Given the description of an element on the screen output the (x, y) to click on. 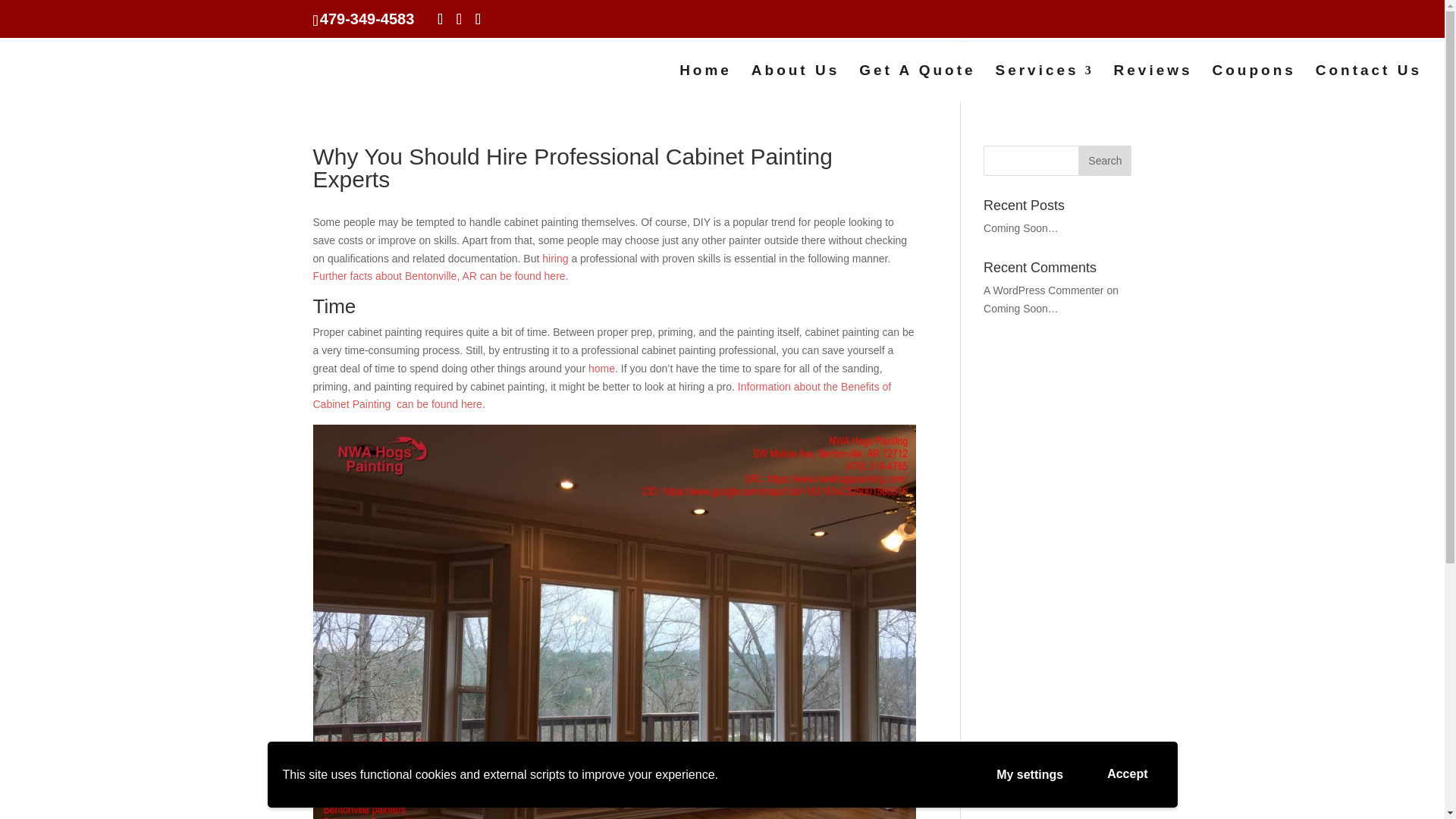
hiring (554, 258)
Reviews (1152, 83)
Search (1104, 160)
home (601, 368)
Get A Quote (917, 83)
Coupons (1253, 83)
Contact Us (1369, 83)
hiring (554, 258)
About Us (795, 83)
